Given the description of an element on the screen output the (x, y) to click on. 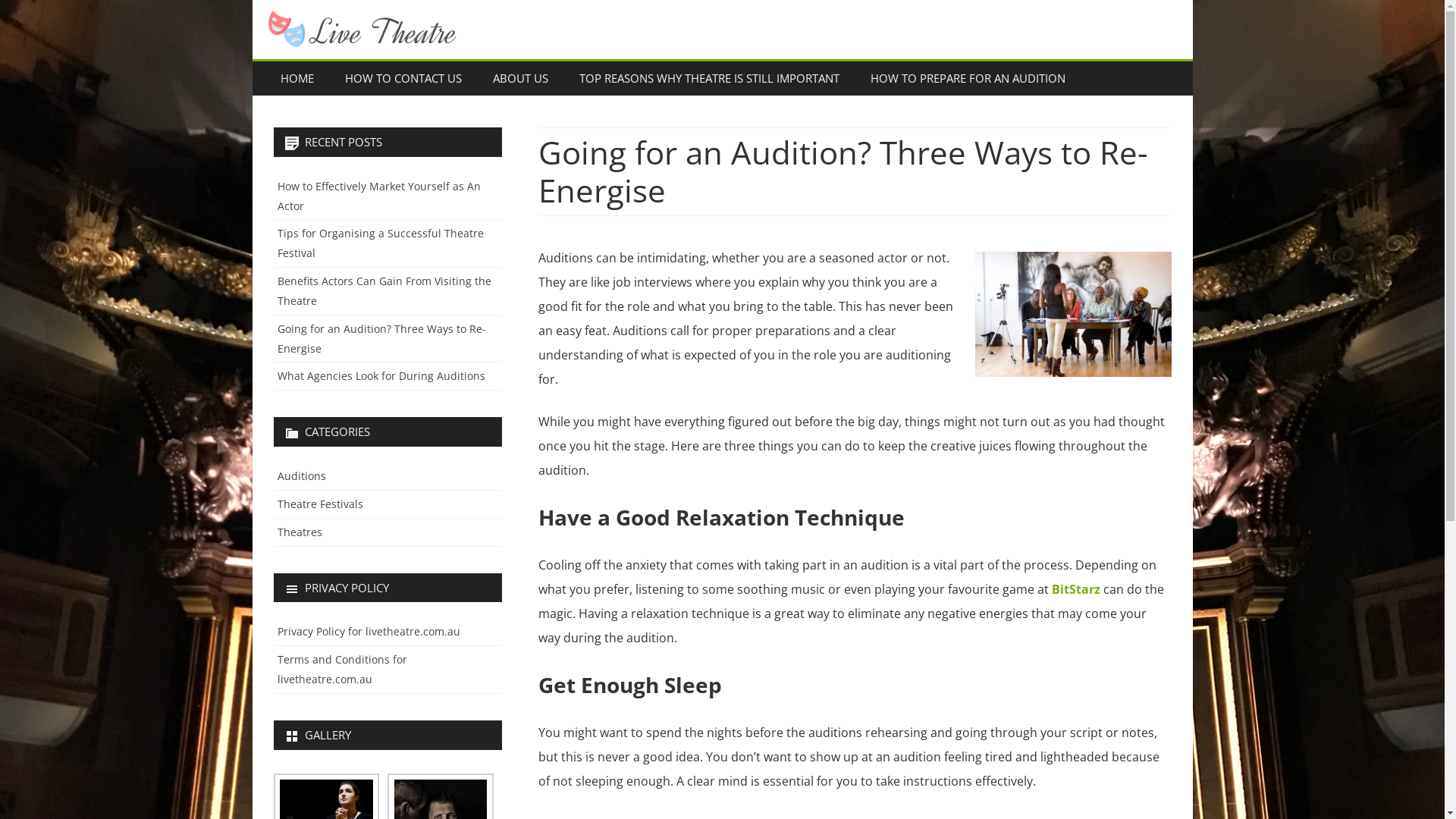
Going for an Audition? Three Ways to Re-Energise Element type: text (381, 338)
Live Theatre Sunshine Coast Element type: text (455, 61)
HOW TO PREPARE FOR AN AUDITION Element type: text (966, 78)
HOME Element type: text (296, 78)
Terms and Conditions for livetheatre.com.au Element type: text (342, 669)
How to Effectively Market Yourself as An Actor Element type: text (378, 195)
HOW TO CONTACT US Element type: text (403, 78)
BitStarz Element type: text (1075, 588)
Theatres Element type: text (299, 531)
Tips for Organising a Successful Theatre Festival Element type: text (380, 242)
Benefits Actors Can Gain From Visiting the Theatre Element type: text (384, 290)
Theatre Festivals Element type: text (320, 503)
Skip to content Element type: text (721, 61)
Privacy Policy for livetheatre.com.au Element type: text (368, 631)
TOP REASONS WHY THEATRE IS STILL IMPORTANT Element type: text (708, 78)
Auditions Element type: text (301, 475)
What Agencies Look for During Auditions Element type: text (381, 375)
ABOUT US Element type: text (519, 78)
